Given the description of an element on the screen output the (x, y) to click on. 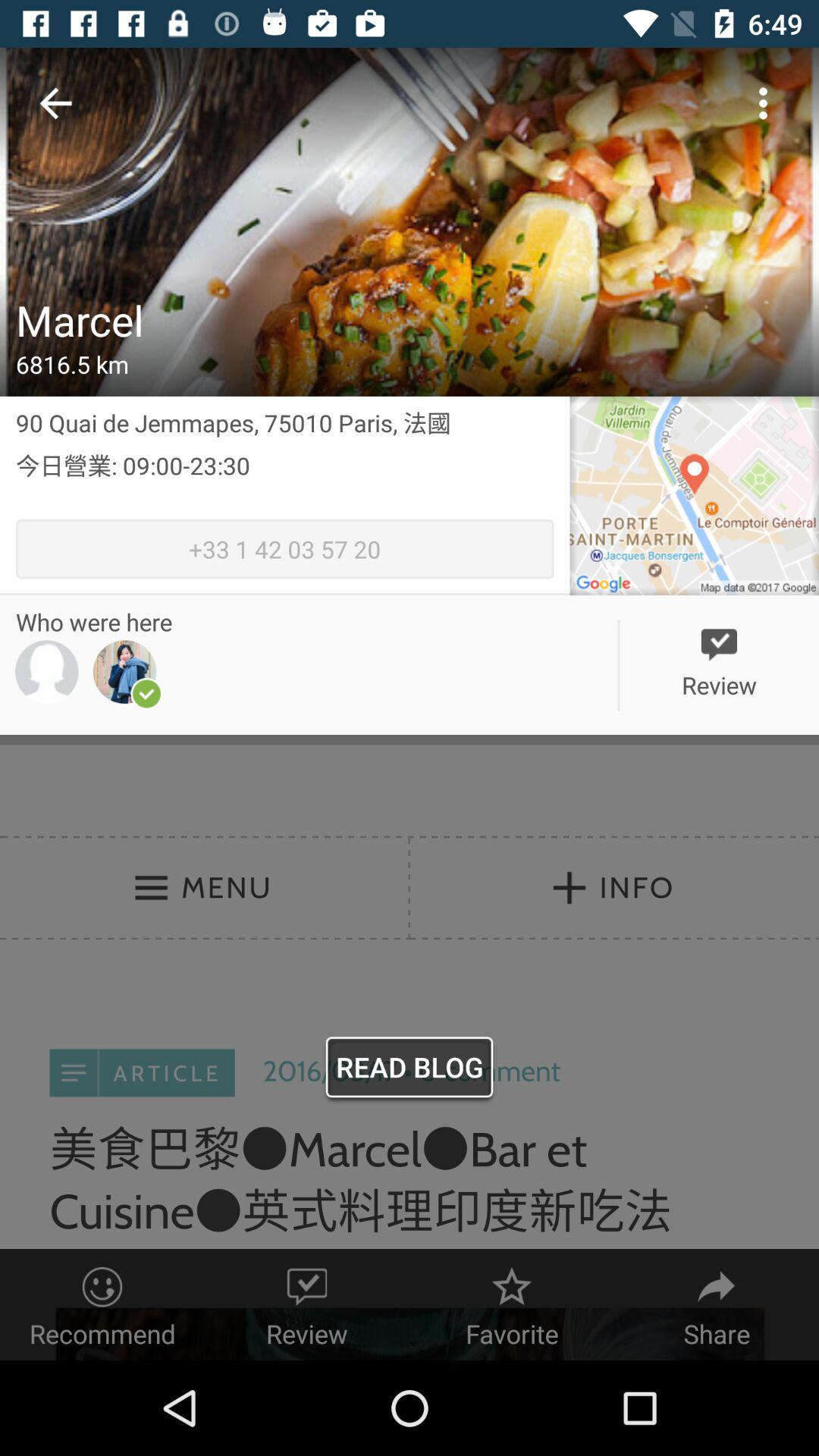
click 90 quai de item (284, 422)
